Given the description of an element on the screen output the (x, y) to click on. 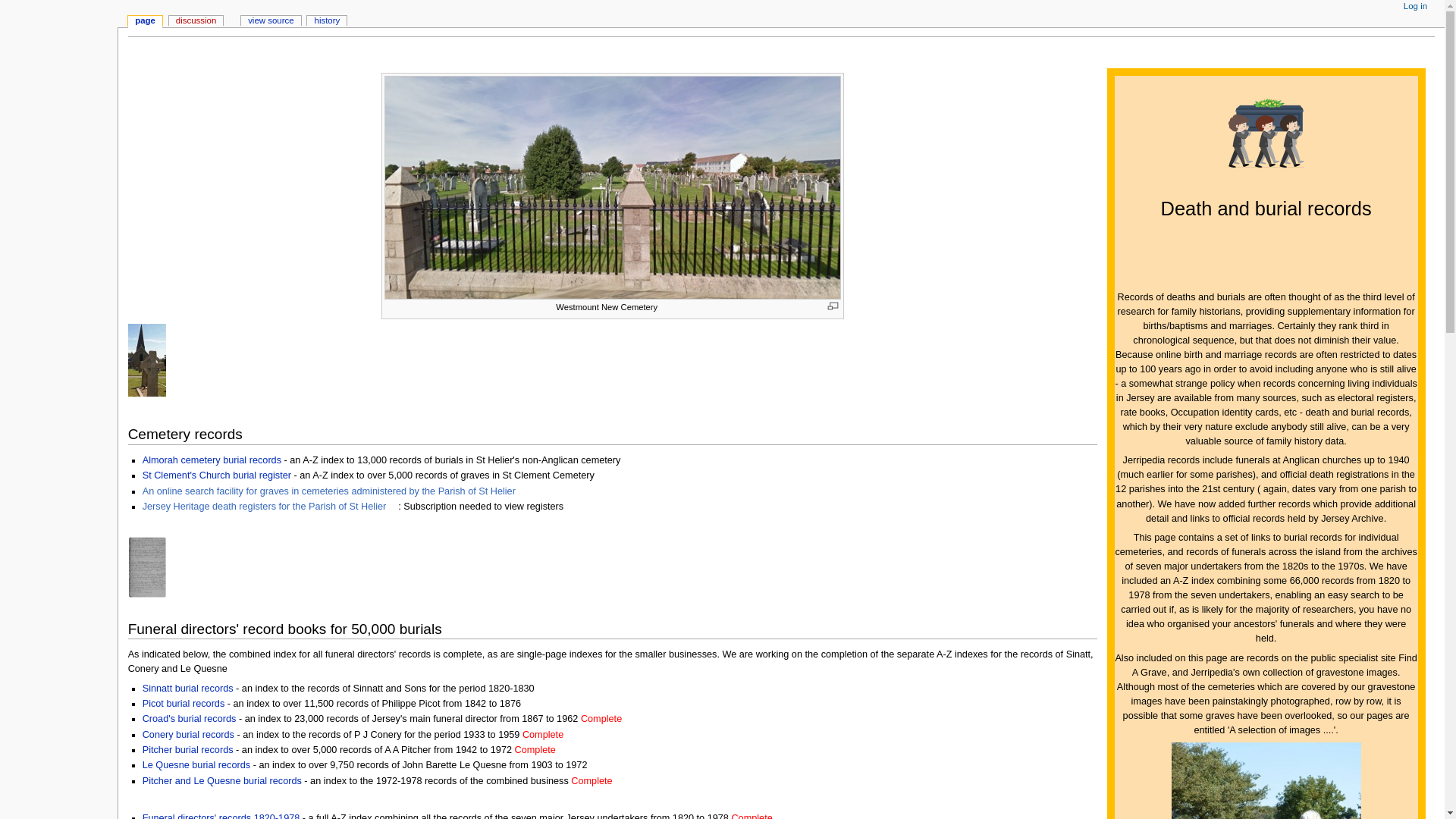
Picot burial records (183, 703)
Sinnatt burial records (187, 688)
Le Quesne burial records (196, 765)
Le Quesne burial records (196, 765)
Croad's burial records (188, 718)
Almorah cemetery burial records (211, 460)
Picot burial records (183, 703)
Sinnatt burial records (187, 688)
Jersey Heritage death registers for the Parish of St Helier (270, 506)
Conery burial records (188, 734)
Almorah cemetery burial records (211, 460)
Pitcher burial records (187, 749)
Pitcher burial records (187, 749)
Pitcher and Le Quesne burial records (221, 780)
